Given the description of an element on the screen output the (x, y) to click on. 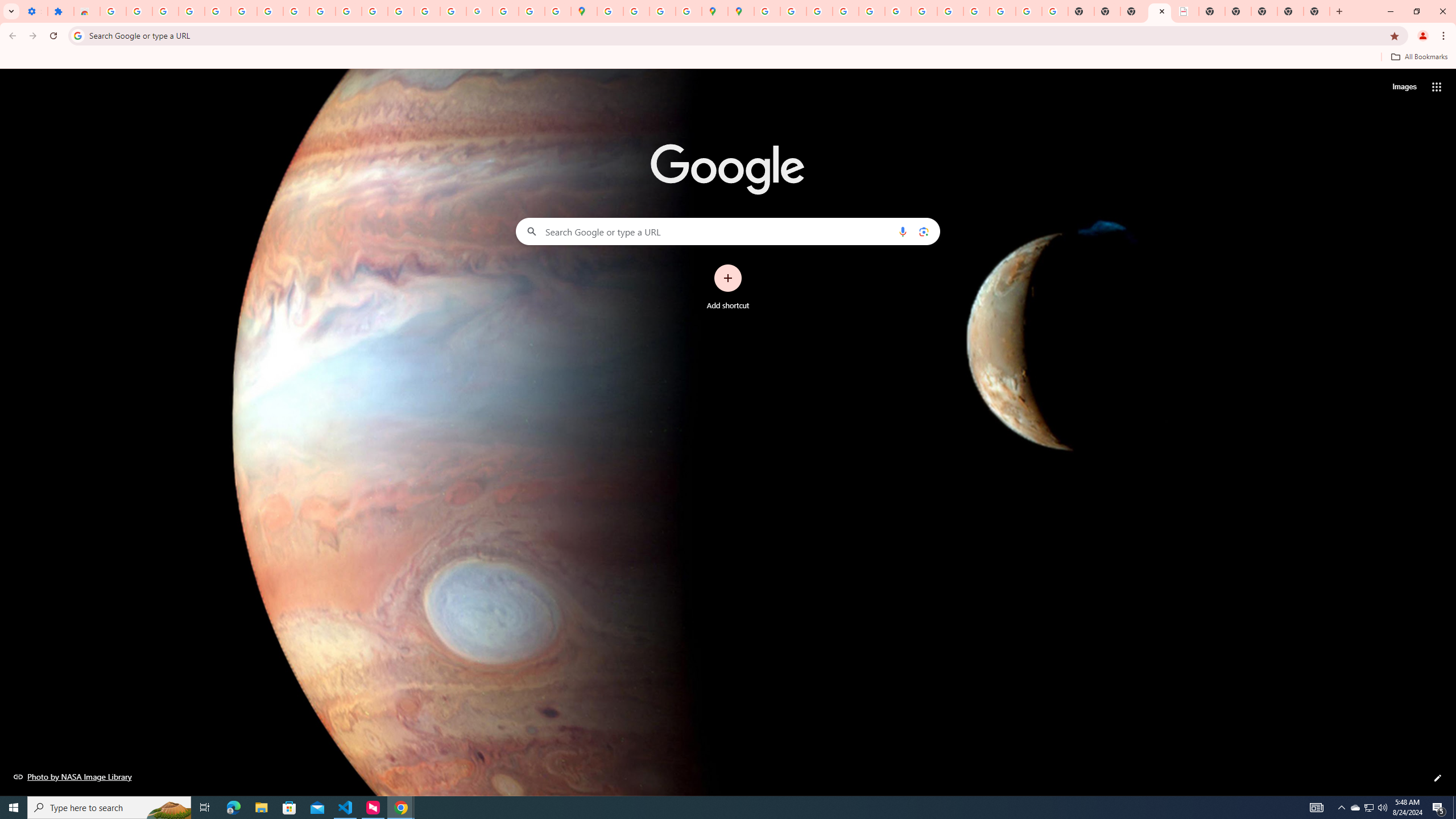
Safety in Our Products - Google Safety Center (689, 11)
Google Maps (584, 11)
